Given the description of an element on the screen output the (x, y) to click on. 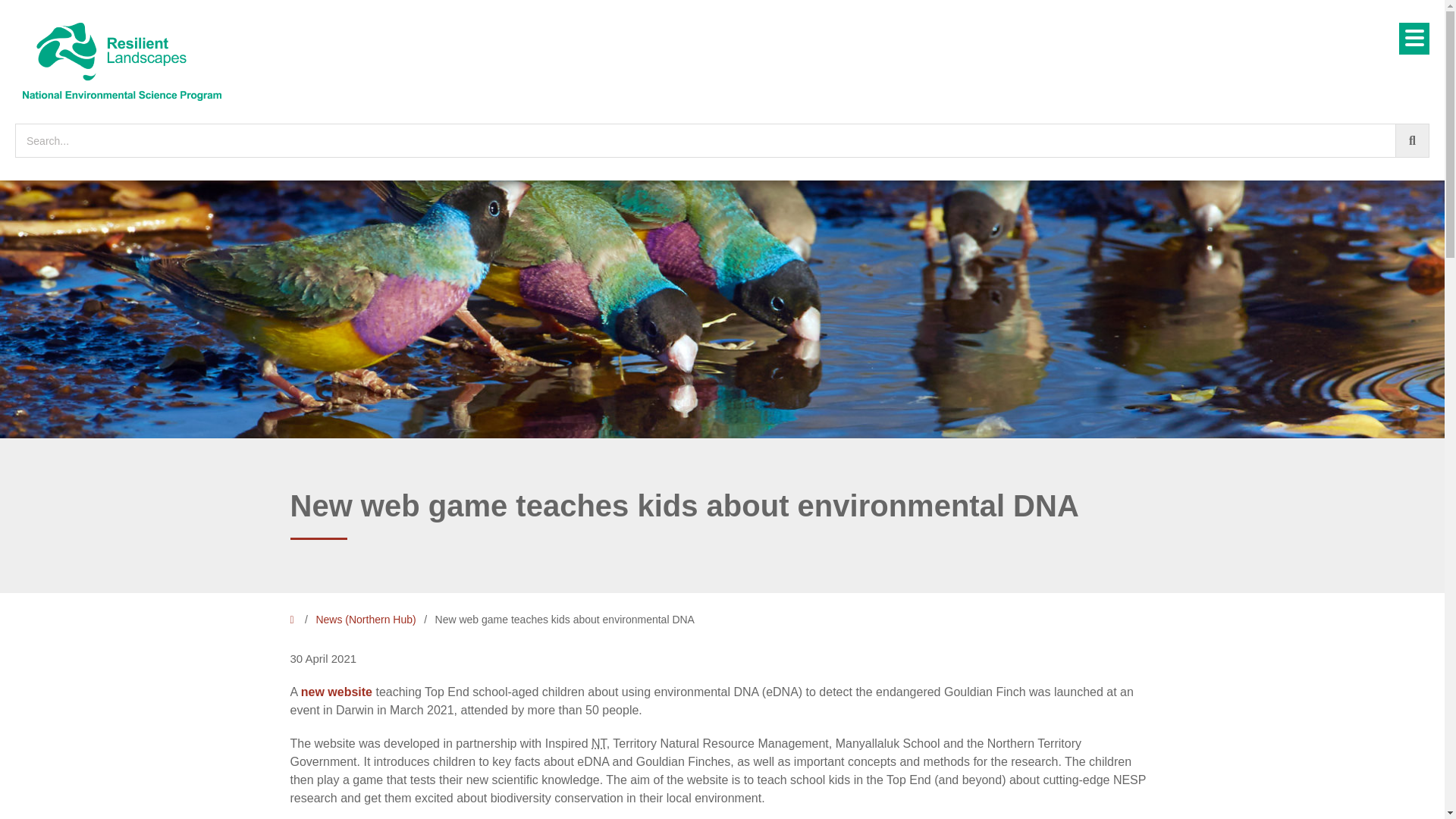
new website (336, 691)
Northern Territory (599, 743)
